Given the description of an element on the screen output the (x, y) to click on. 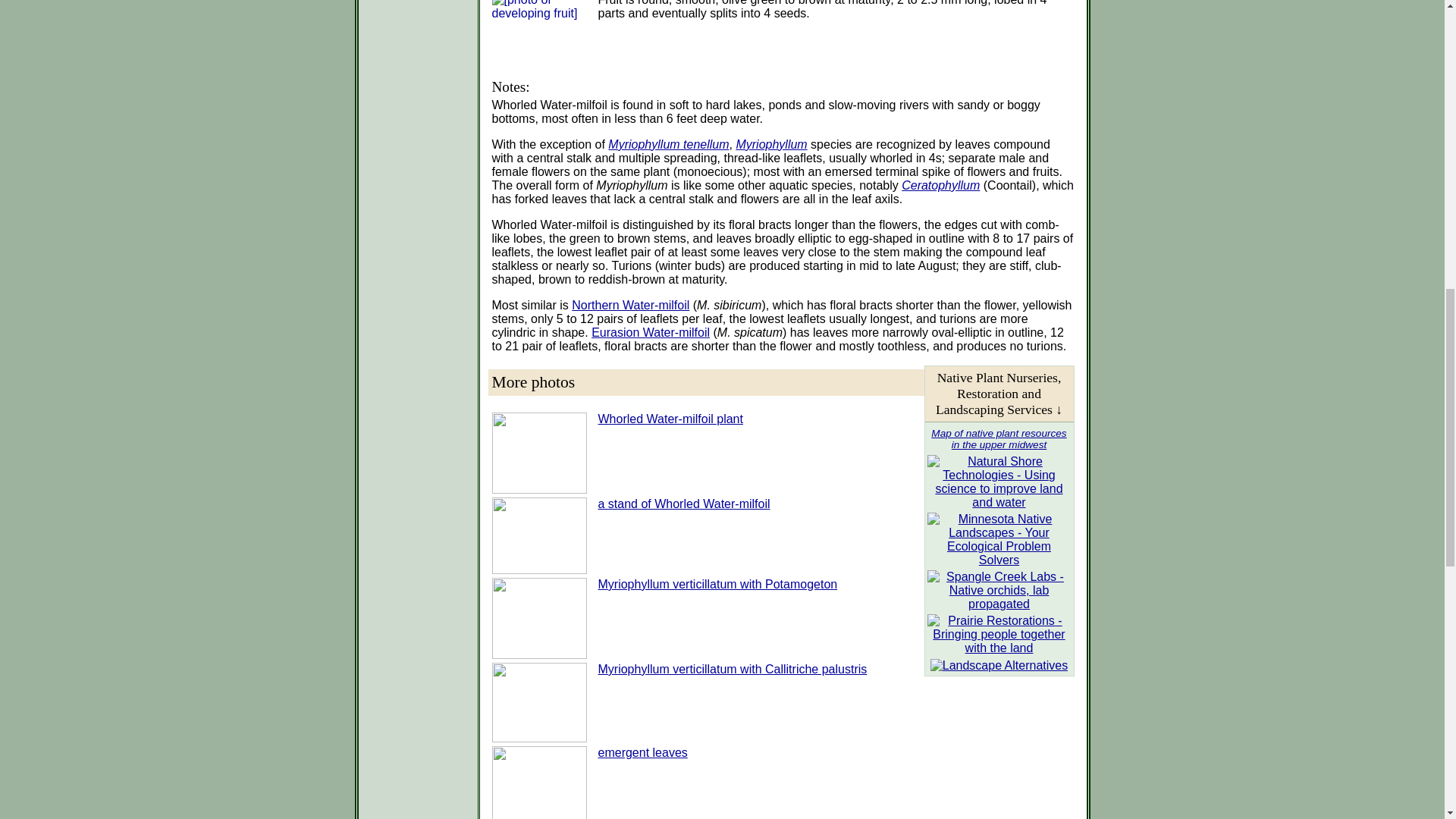
 a stand of Whorled Water-milfoil (683, 503)
emergent leaves (641, 752)
Northern Water-milfoil (630, 305)
 Myriophyllum verticillatum with Callitriche palustris (731, 668)
Myriophyllum tenellum (668, 144)
Myriophyllum (770, 144)
Myriophyllum verticillatum with Potamogeton (716, 584)
Ceratophyllum (940, 185)
Map of native plant resources in the upper midwest (998, 438)
 Myriophyllum verticillatum with Potamogeton (716, 584)
